Given the description of an element on the screen output the (x, y) to click on. 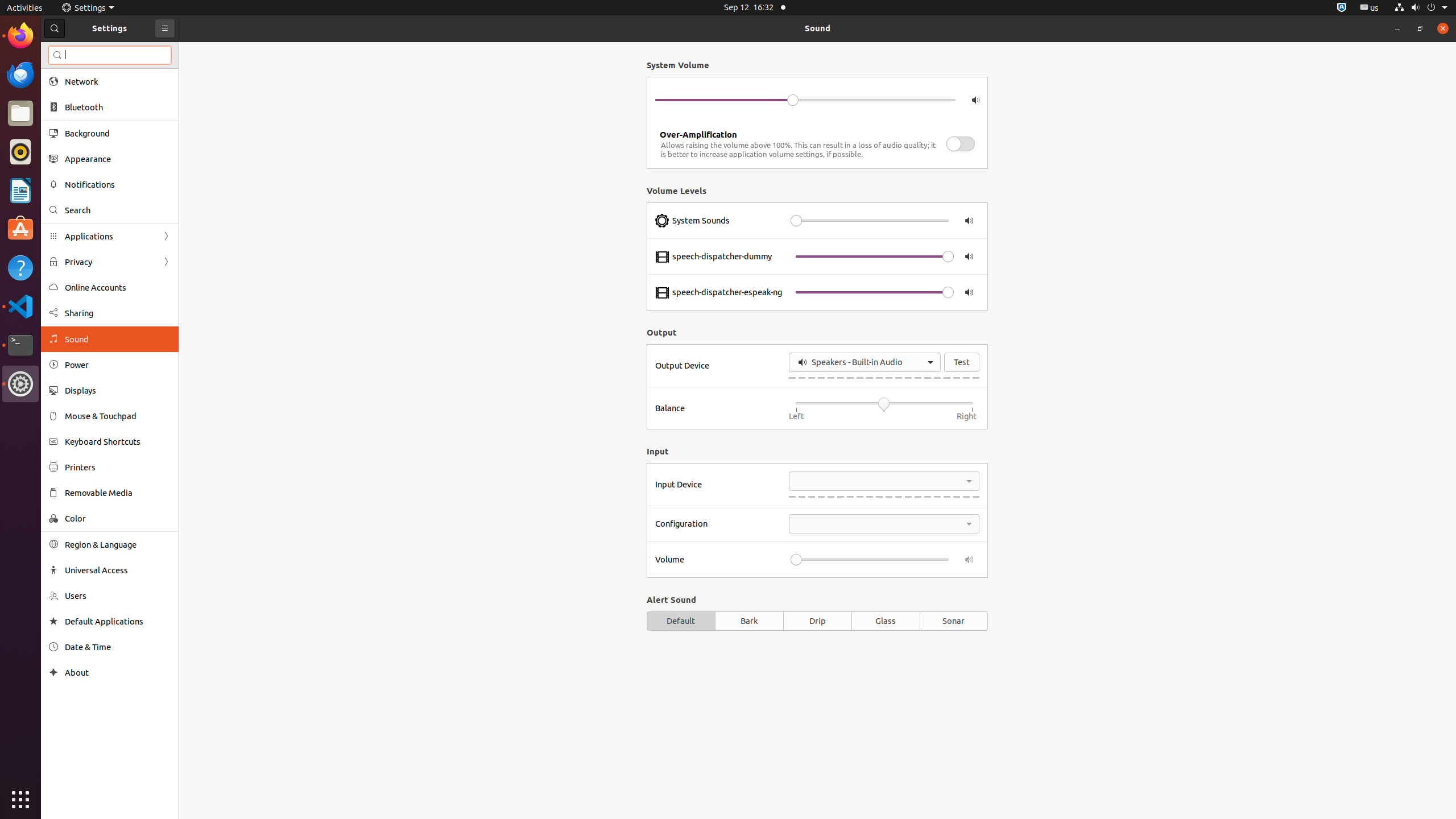
Online Accounts Element type: label (117, 287)
Input Element type: label (816, 451)
Applications Element type: label (109, 236)
Sound Element type: label (817, 27)
